Given the description of an element on the screen output the (x, y) to click on. 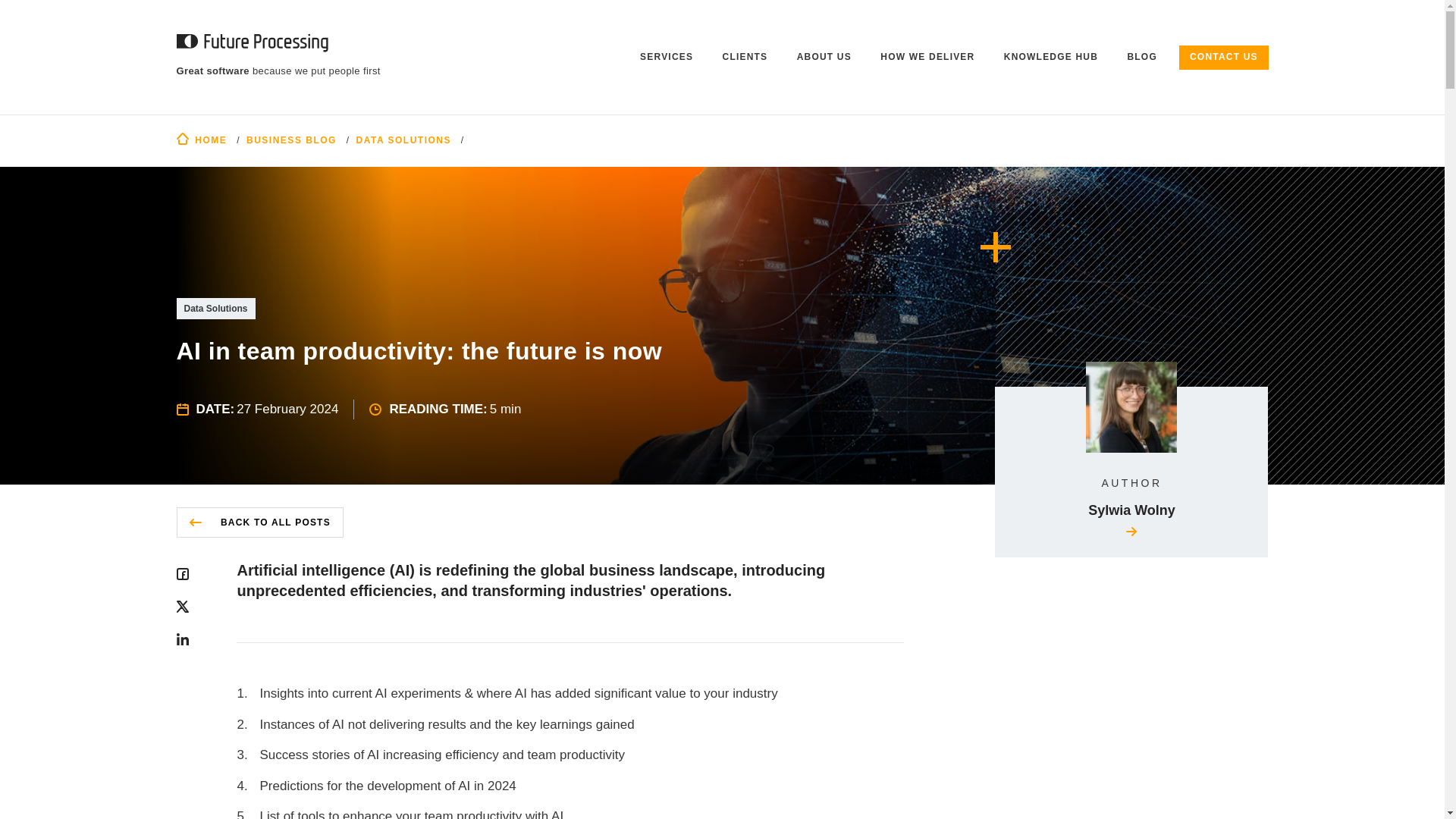
List of tools to enhance your team productivity with AI (569, 812)
BACK TO ALL POSTS (259, 521)
Predictions for the development of AI in 2024 (569, 786)
CONTACT US (1223, 57)
BUSINESS BLOG (291, 140)
KNOWLEDGE HUB (1051, 57)
HOW WE DELIVER (928, 57)
DATA SOLUTIONS (403, 140)
HOME (201, 140)
